Given the description of an element on the screen output the (x, y) to click on. 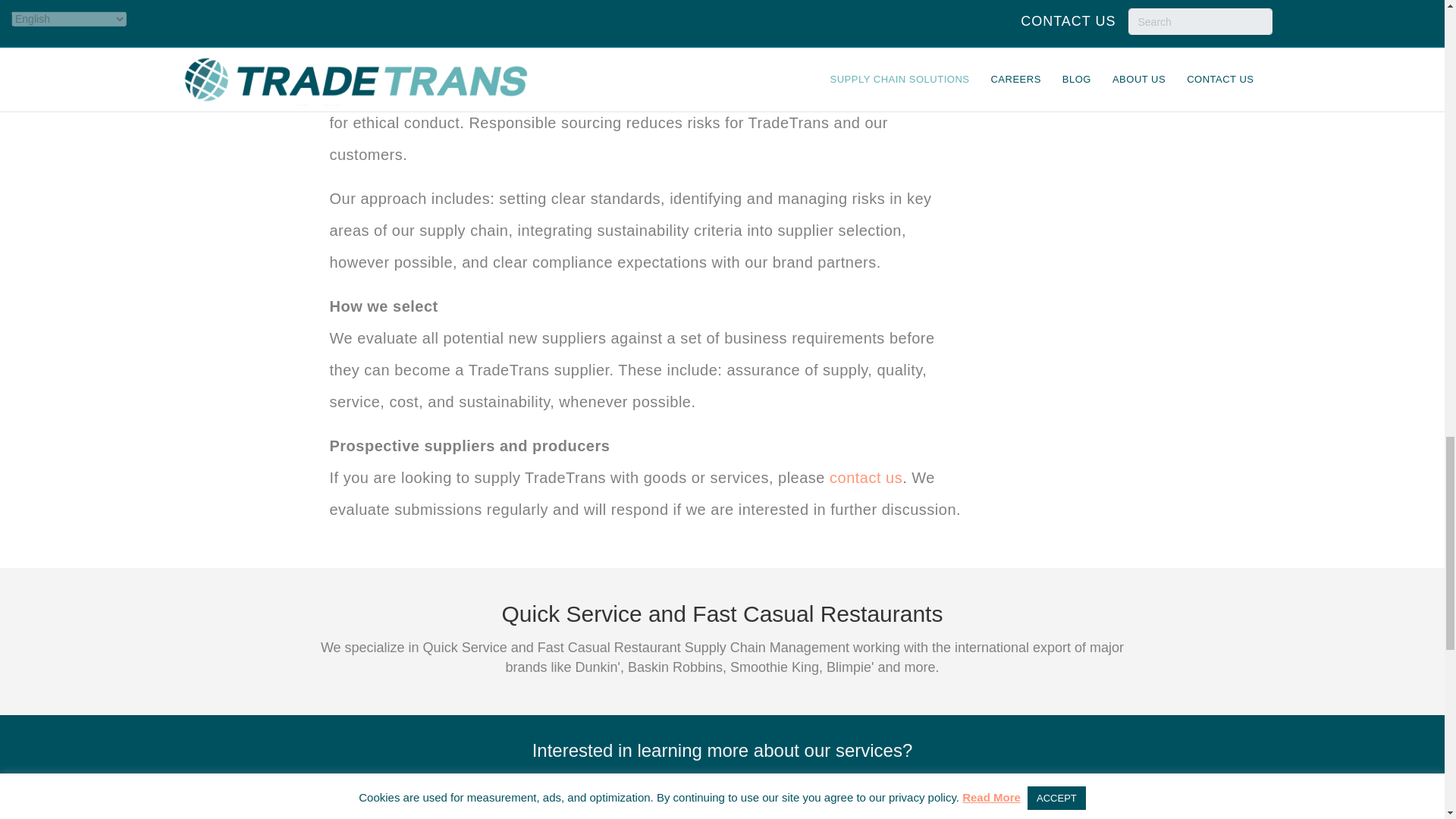
CONTACT US TODAY! (721, 802)
contact us (865, 477)
